Given the description of an element on the screen output the (x, y) to click on. 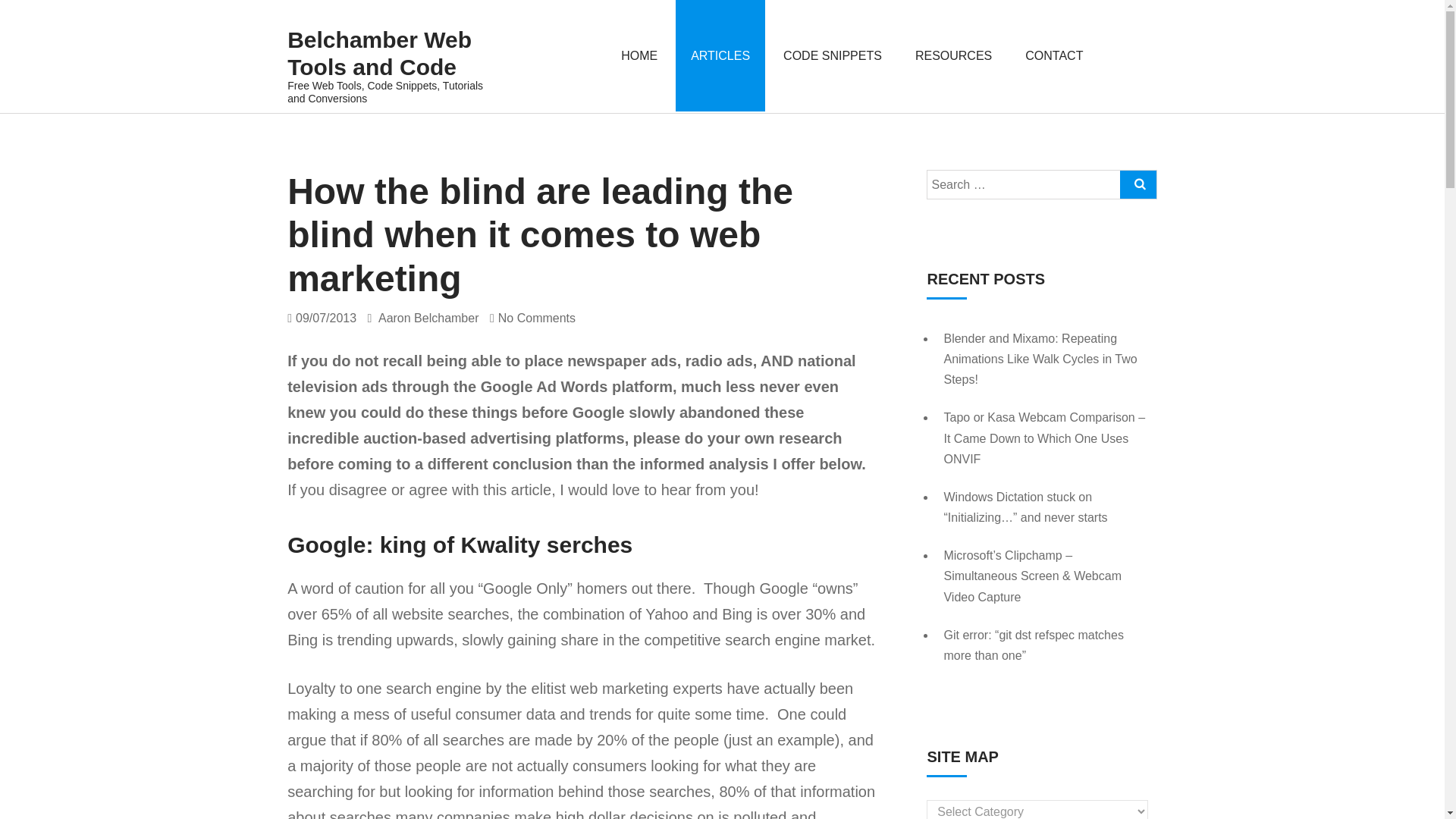
Search (1132, 52)
Search (1137, 184)
RESOURCES (953, 55)
Search (1137, 184)
CODE SNIPPETS (832, 55)
Belchamber Web Tools and Code (388, 53)
Search (1132, 52)
Search (1132, 52)
